Given the description of an element on the screen output the (x, y) to click on. 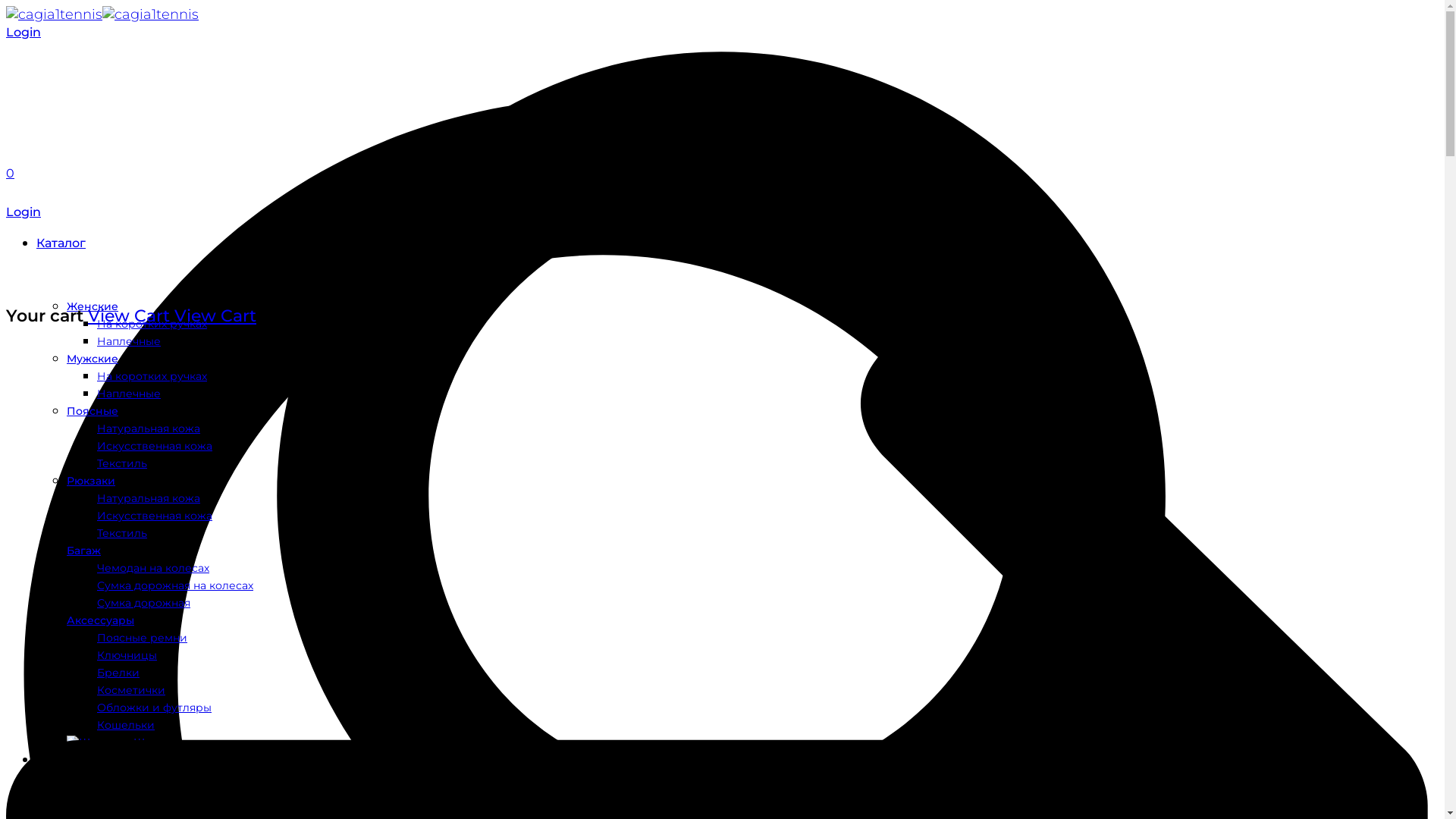
Login Element type: text (23, 211)
0 Element type: text (10, 173)
